Given the description of an element on the screen output the (x, y) to click on. 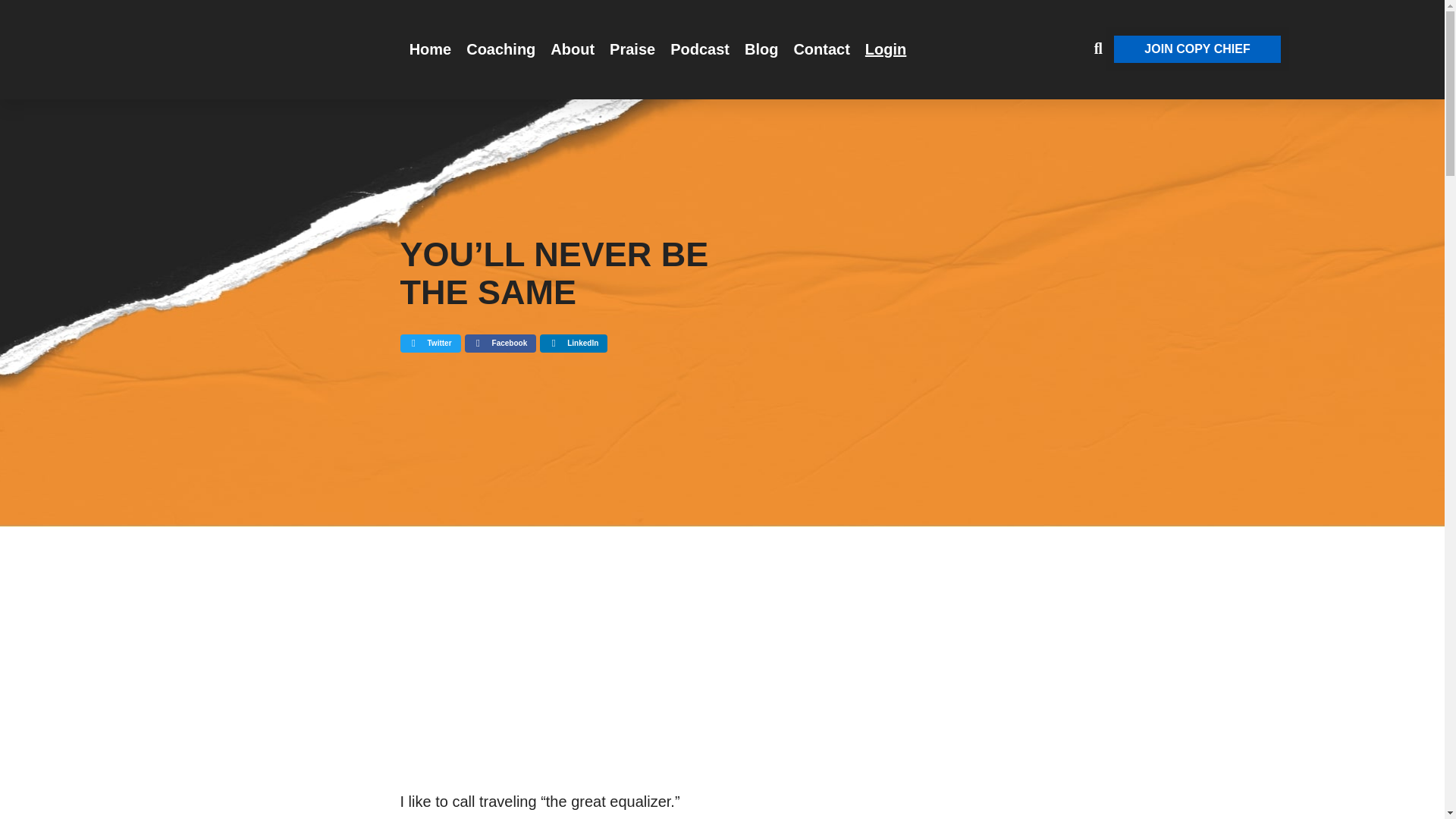
JOIN COPY CHIEF (1196, 49)
Coaching (500, 48)
